Given the description of an element on the screen output the (x, y) to click on. 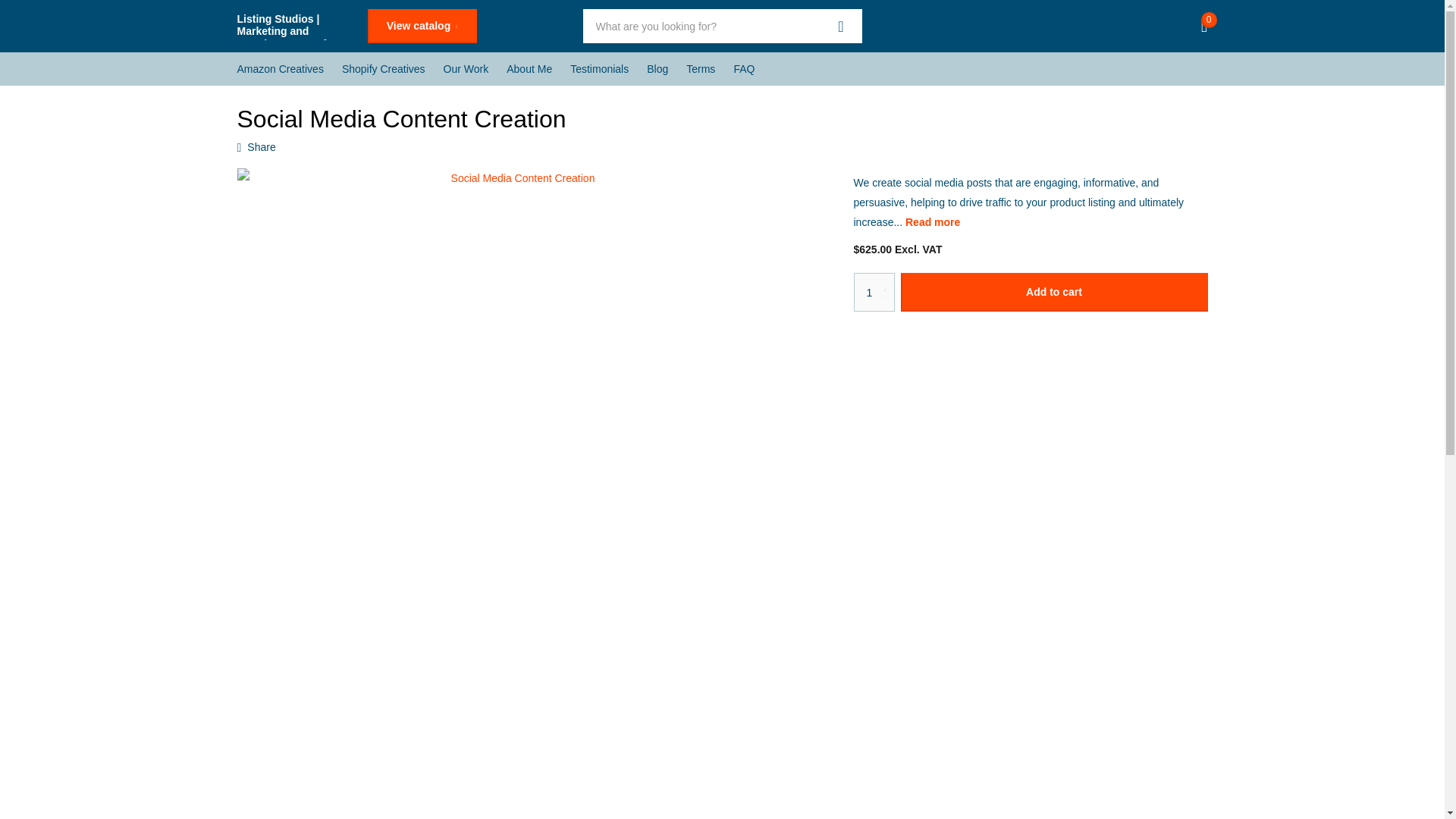
Amazon Creatives (279, 68)
About Me (528, 68)
Testimonials (599, 68)
Zoeken (841, 26)
1 (874, 292)
Shopify Creatives (383, 68)
Our Work (466, 68)
View catalog (421, 26)
